Given the description of an element on the screen output the (x, y) to click on. 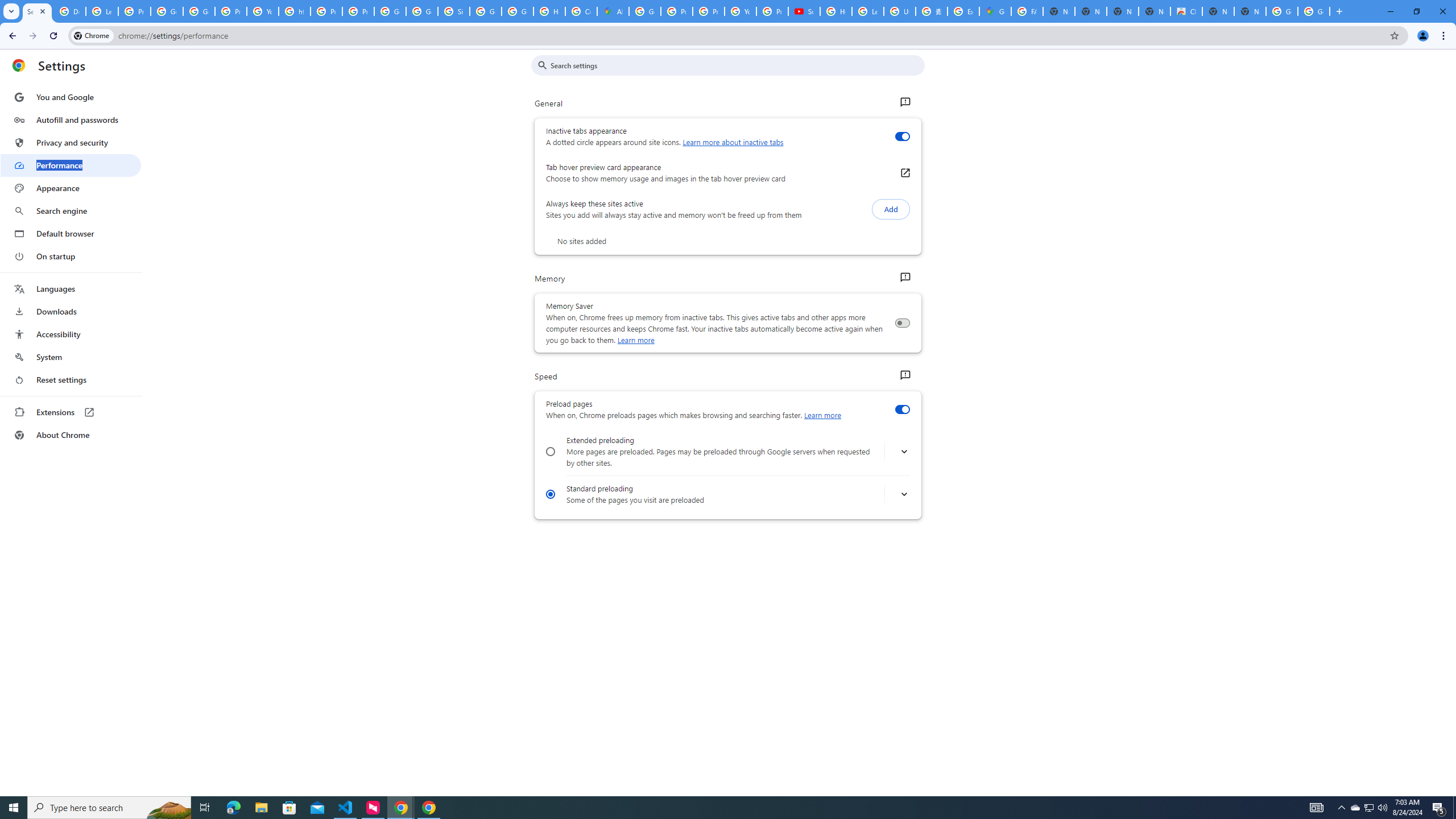
Chrome Web Store (1185, 11)
Search engine (70, 210)
Add to the "always keep these sites active" list (891, 209)
Inactive tabs appearance (901, 136)
Learn more about inactive tabs (732, 141)
Google Images (1313, 11)
Settings - Performance (37, 11)
On startup (70, 255)
Explore new street-level details - Google Maps Help (963, 11)
